Given the description of an element on the screen output the (x, y) to click on. 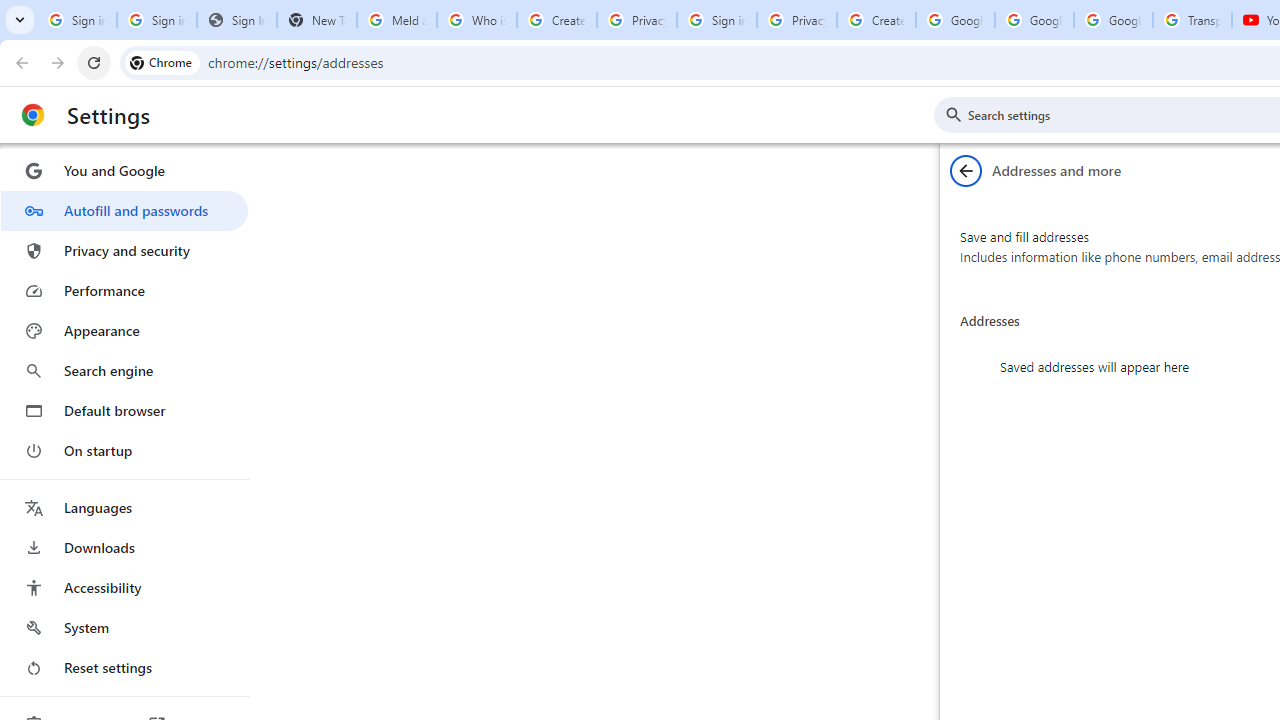
Default browser (124, 410)
Autofill and passwords (124, 210)
Sign in - Google Accounts (156, 20)
Performance (124, 290)
You and Google (124, 170)
Sign in - Google Accounts (716, 20)
Languages (124, 507)
Reset settings (124, 668)
Sign in - Google Accounts (76, 20)
